Given the description of an element on the screen output the (x, y) to click on. 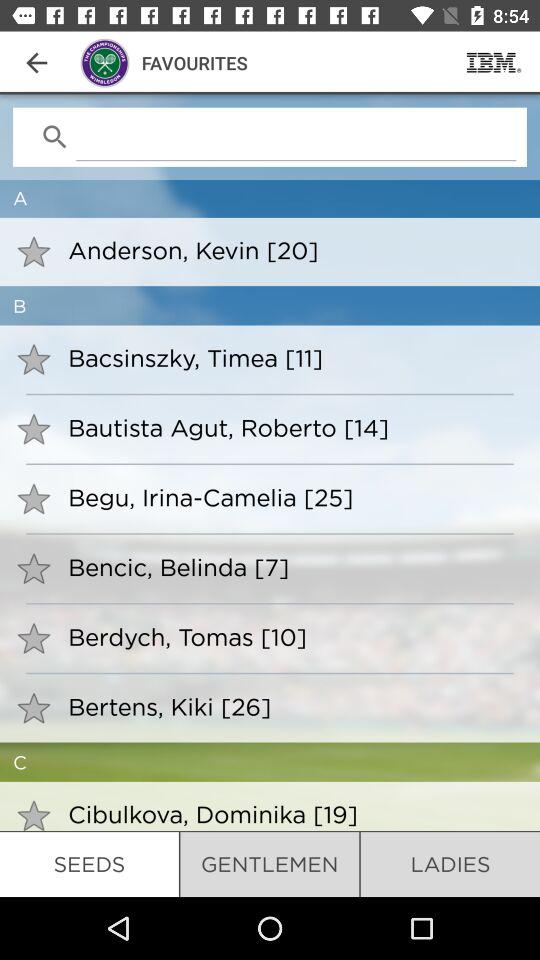
click icon next to seeds icon (269, 863)
